Given the description of an element on the screen output the (x, y) to click on. 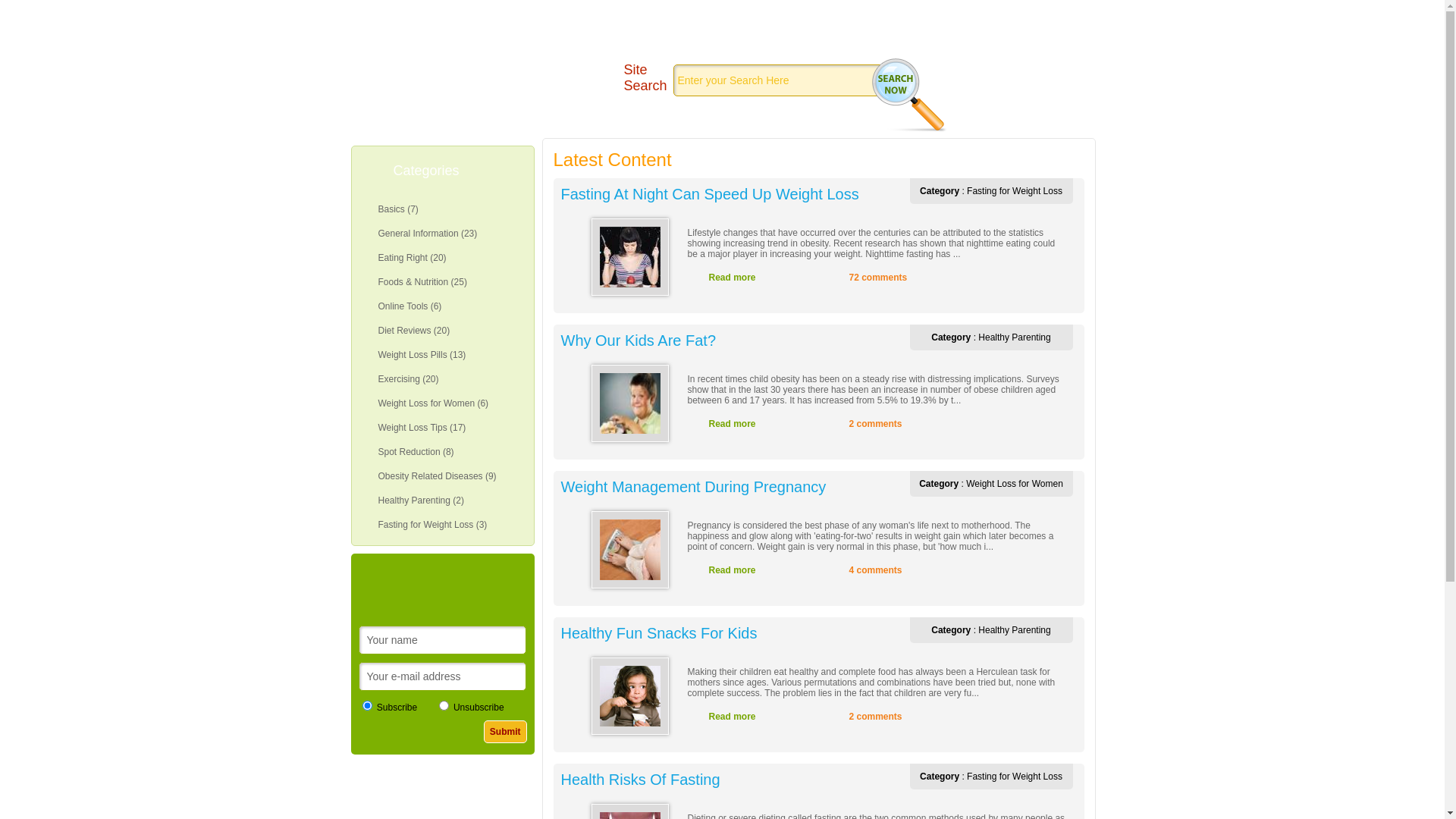
Submit Element type: text (505, 731)
Weight Management During Pregnancy Element type: text (729, 486)
Healthy Fun Snacks For Kids Element type: text (729, 633)
Weight Loss for Women Element type: text (1014, 483)
Read more Element type: text (754, 423)
Healthy Parenting Element type: text (1014, 629)
Read more Element type: text (754, 277)
72 comments Element type: text (892, 277)
Search Element type: text (1004, 10)
Weight Loss Pills (13) Element type: text (442, 354)
Healthy Parenting Element type: text (1014, 337)
101 Weight Loss Element type: text (482, 76)
General Information (23) Element type: text (442, 233)
Healthy Parenting (2) Element type: text (442, 500)
Online Tools (6) Element type: text (442, 305)
Obesity Related Diseases (9) Element type: text (442, 475)
Exercising (20) Element type: text (442, 378)
Read more Element type: text (754, 570)
Fasting for Weight Loss Element type: text (1014, 776)
Weight Loss for Women (6) Element type: text (442, 403)
Fasting for Weight Loss (3) Element type: text (442, 524)
Weight Loss Tips (17) Element type: text (442, 427)
2 comments Element type: text (892, 716)
Basics (7) Element type: text (442, 208)
Contact Us Element type: text (1061, 10)
Fasting At Night Can Speed Up Weight Loss Element type: text (729, 194)
Eating Right (20) Element type: text (442, 257)
4 comments Element type: text (892, 570)
Read more Element type: text (754, 716)
Foods & Nutrition (25) Element type: text (442, 281)
2 comments Element type: text (892, 423)
Advanced Search Element type: text (990, 82)
Why Our Kids Are Fat? Element type: text (729, 340)
Diet Reviews (20) Element type: text (442, 330)
Fasting for Weight Loss Element type: text (1014, 190)
Home Element type: text (957, 10)
Spot Reduction (8) Element type: text (442, 451)
Health Risks Of Fasting Element type: text (729, 779)
